Given the description of an element on the screen output the (x, y) to click on. 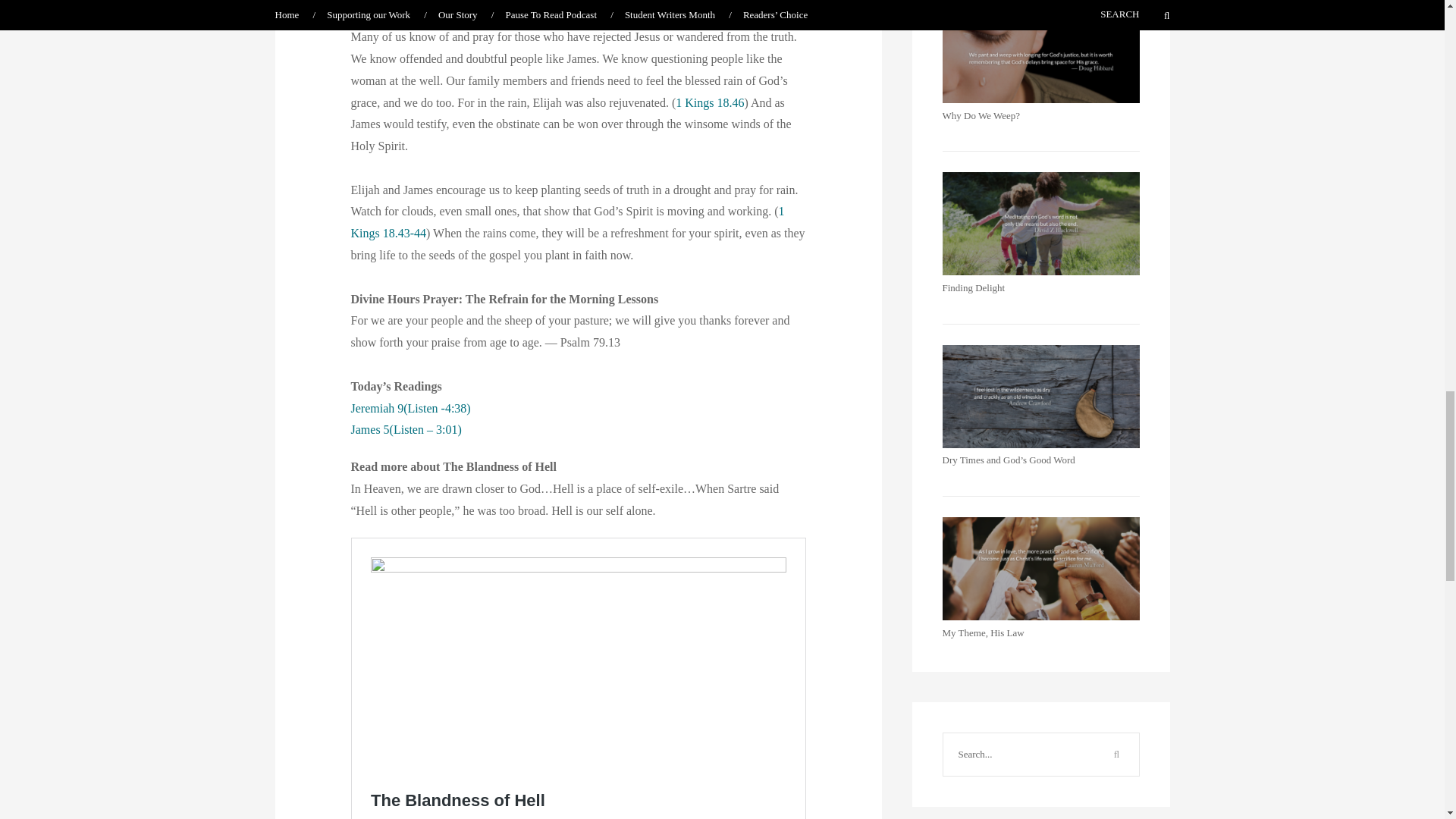
1 Kings 18.46 (709, 101)
Why Do We Weep? (980, 115)
My Theme, His Law (982, 632)
Search (1116, 754)
James 5 (369, 429)
Search... (1018, 754)
1 Kings 18.43-44 (567, 221)
Finding Delight (973, 287)
Jeremiah 9 (376, 408)
